Given the description of an element on the screen output the (x, y) to click on. 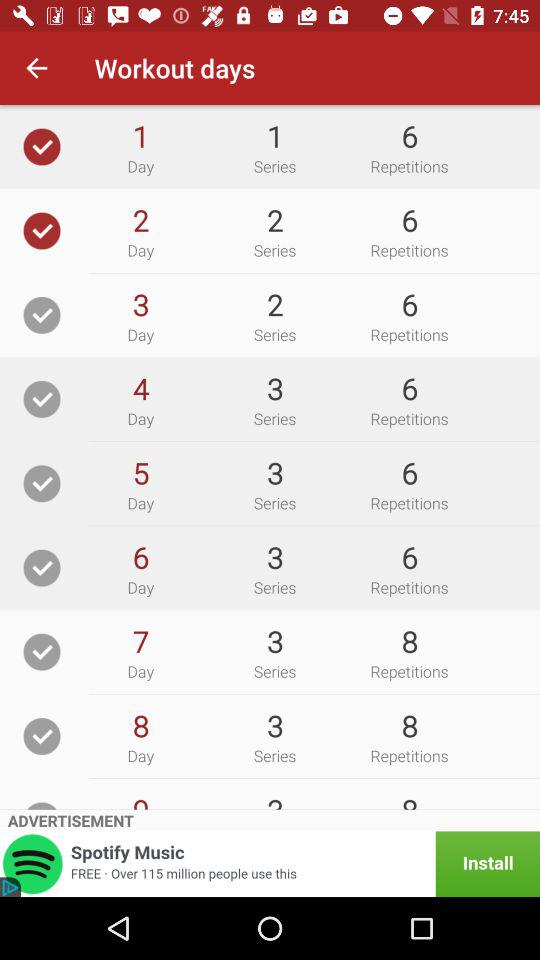
spotfiy advertisement (270, 864)
